Given the description of an element on the screen output the (x, y) to click on. 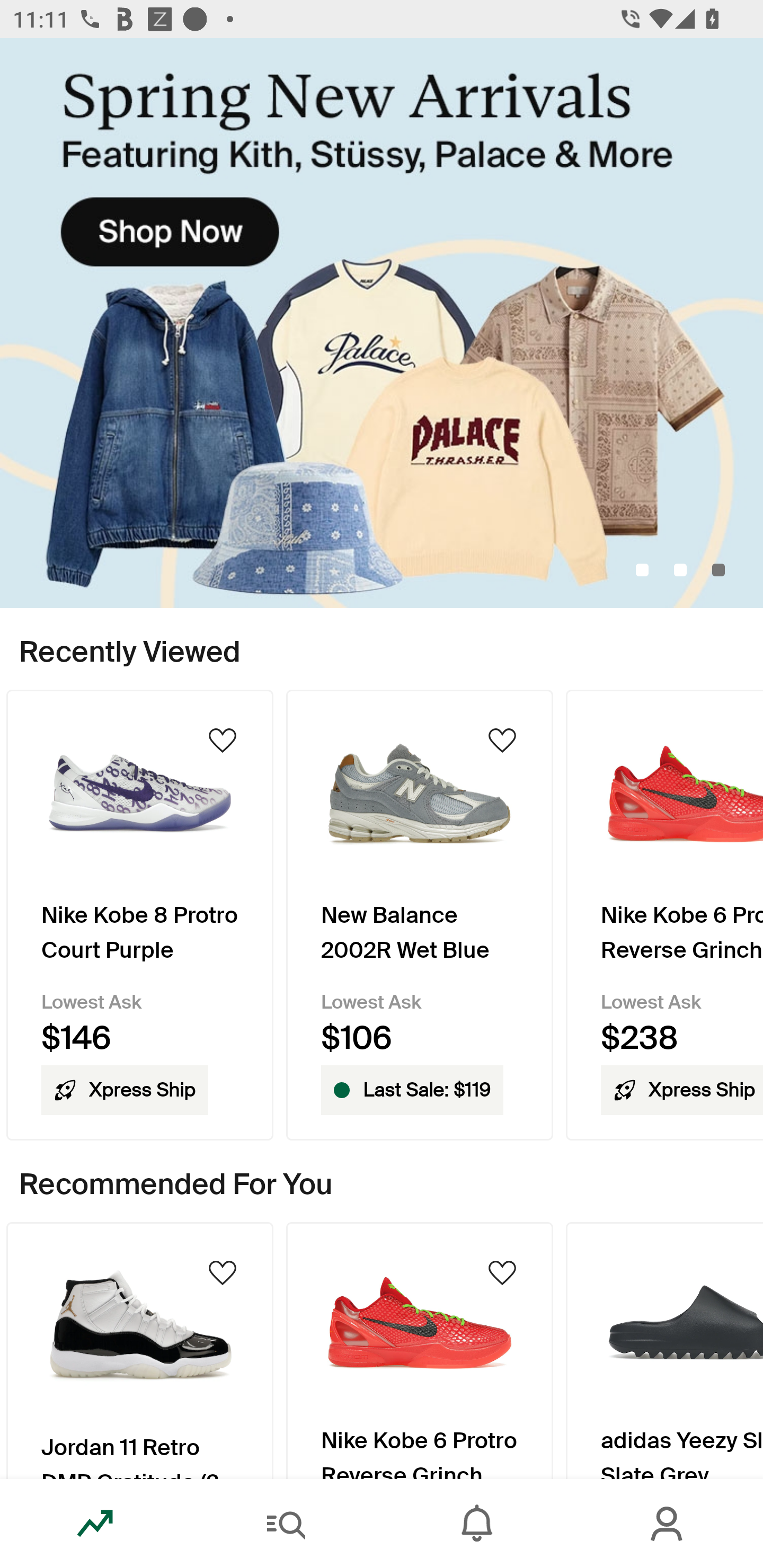
SpringNewArrivals-KithStussy_Primary_Mobile.jpg (381, 322)
Product Image Jordan 11 Retro DMP Gratitude (2023) (139, 1349)
Product Image Nike Kobe 6 Protro Reverse Grinch (419, 1349)
Product Image adidas Yeezy Slide Slate Grey (664, 1349)
Search (285, 1523)
Inbox (476, 1523)
Account (667, 1523)
